Given the description of an element on the screen output the (x, y) to click on. 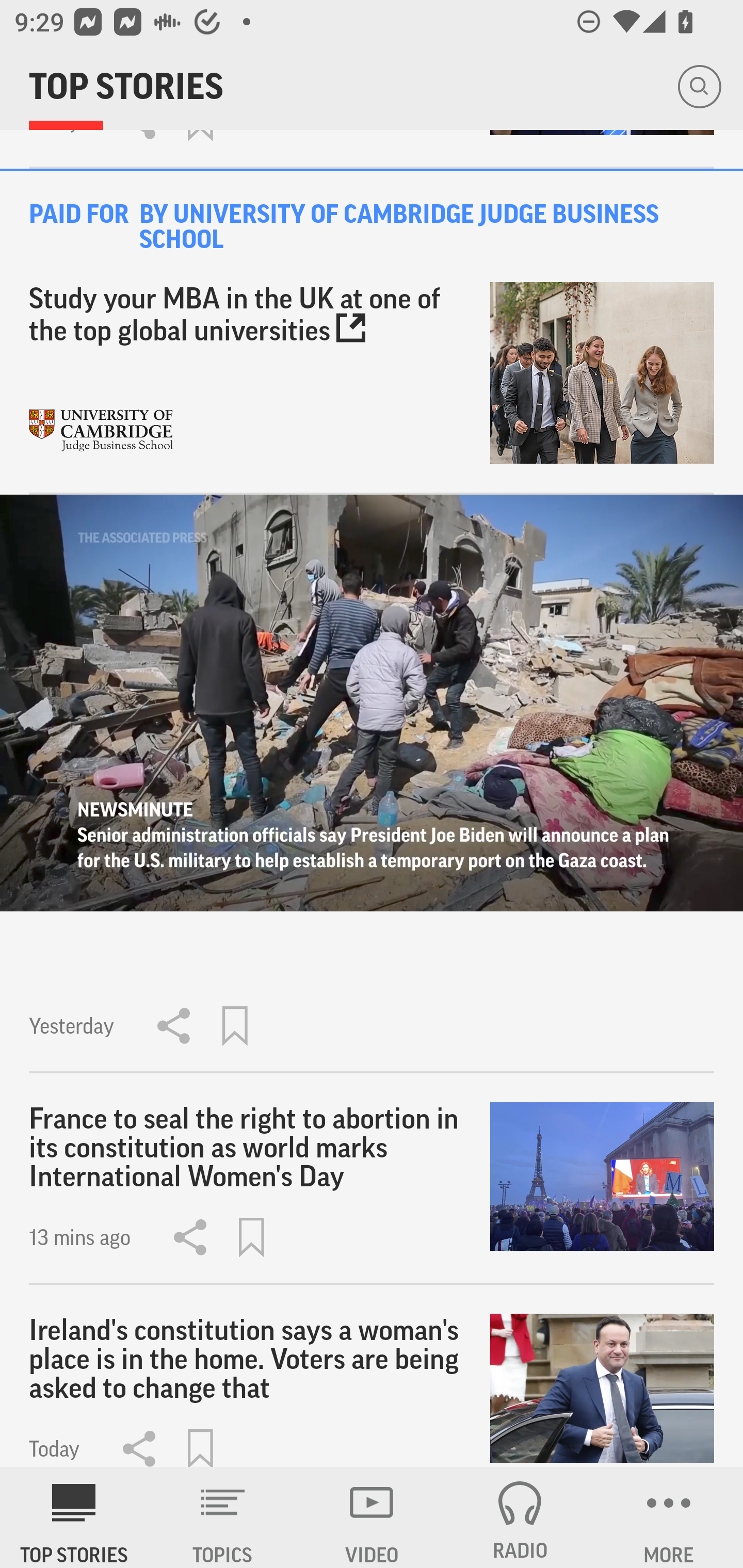
toggle controls Yesterday (371, 783)
toggle controls (371, 702)
AP News TOP STORIES (74, 1517)
TOPICS (222, 1517)
VIDEO (371, 1517)
RADIO (519, 1517)
MORE (668, 1517)
